Given the description of an element on the screen output the (x, y) to click on. 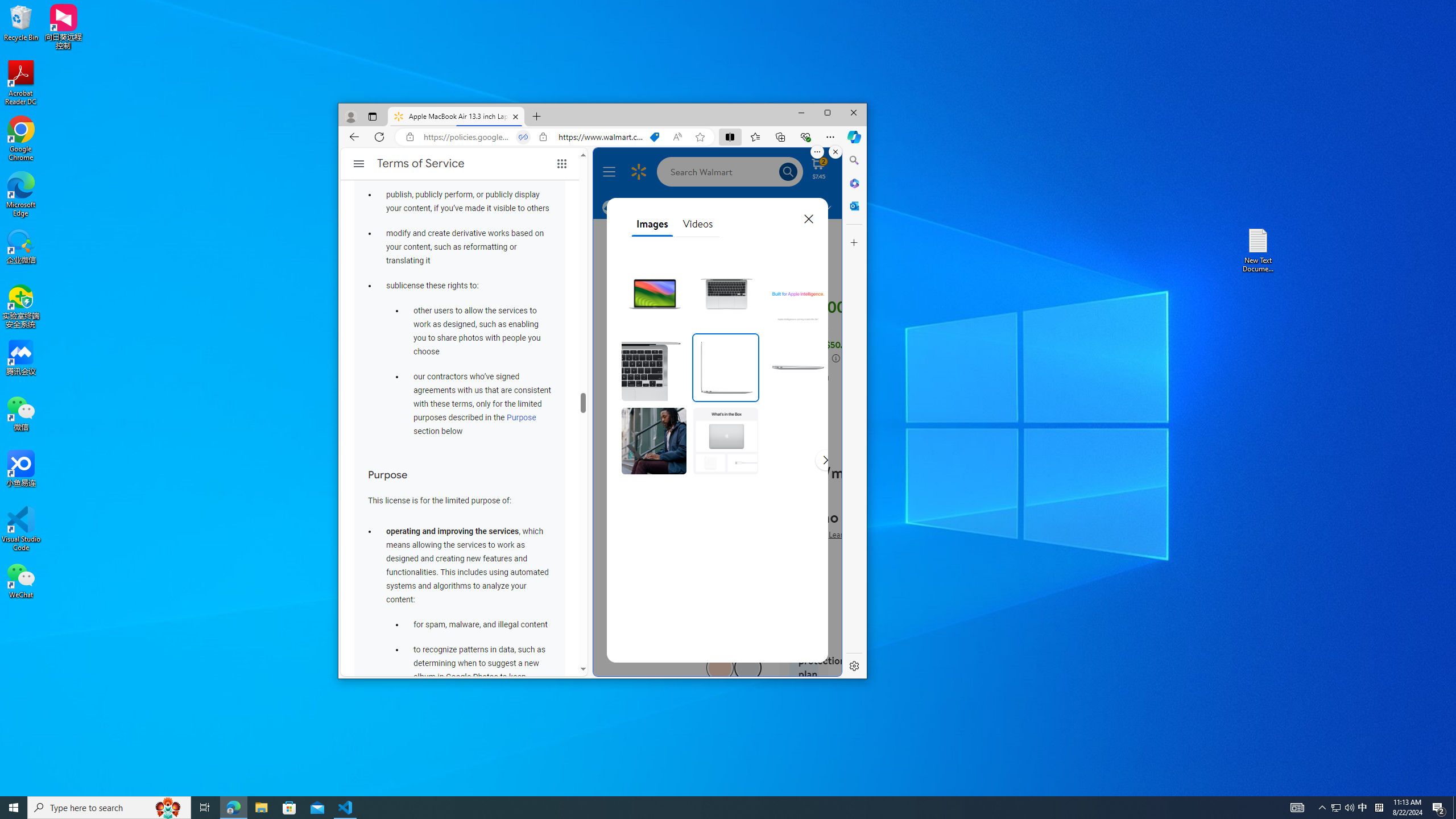
Microsoft Edge (21, 194)
Visual Studio Code (1362, 807)
